Given the description of an element on the screen output the (x, y) to click on. 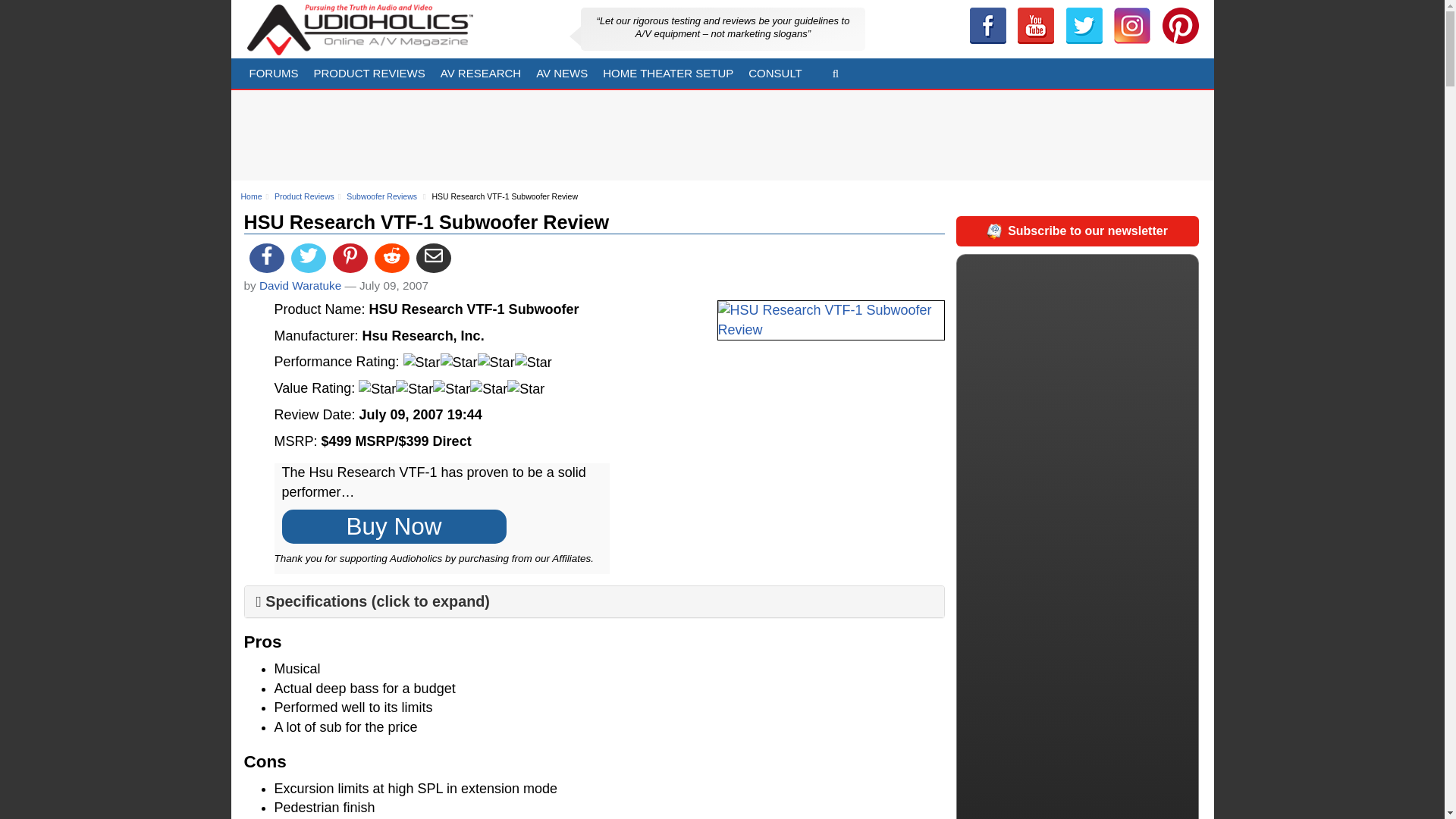
share on reddit (391, 257)
share on twitter (308, 257)
Audioholics Youtube (1035, 25)
Audioholics Facebook (987, 25)
share on facebook (265, 257)
FORUMS (273, 73)
email (433, 257)
PRODUCT REVIEWS (368, 73)
Twitter (1083, 25)
HSU Research VTF-1 Subwoofer Review (830, 320)
share on pinterest (350, 257)
pinterest (1180, 25)
AV RESEARCH (480, 73)
instagram (1132, 25)
